Given the description of an element on the screen output the (x, y) to click on. 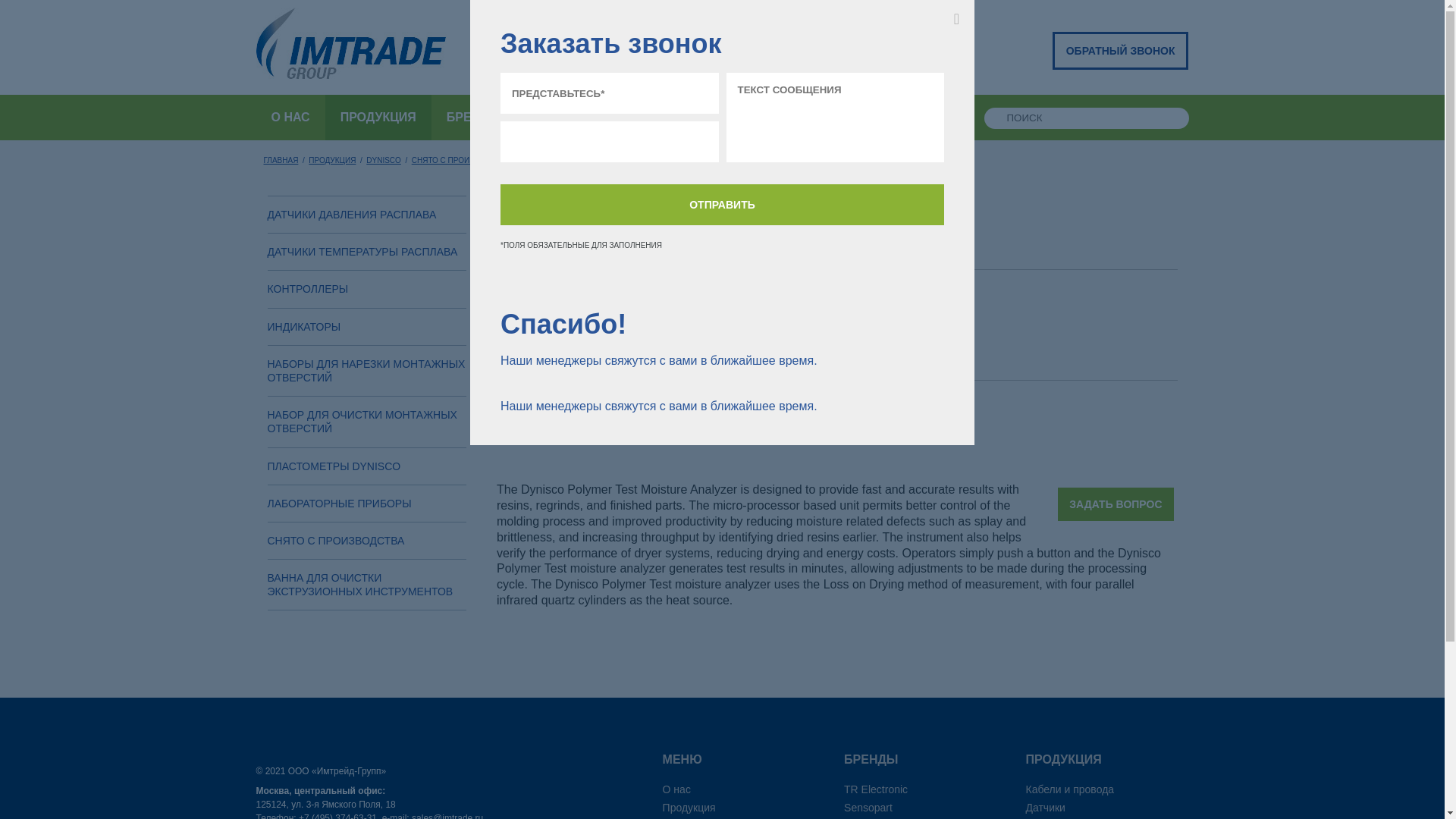
DYNISCO (383, 160)
Dynisco (383, 160)
